Given the description of an element on the screen output the (x, y) to click on. 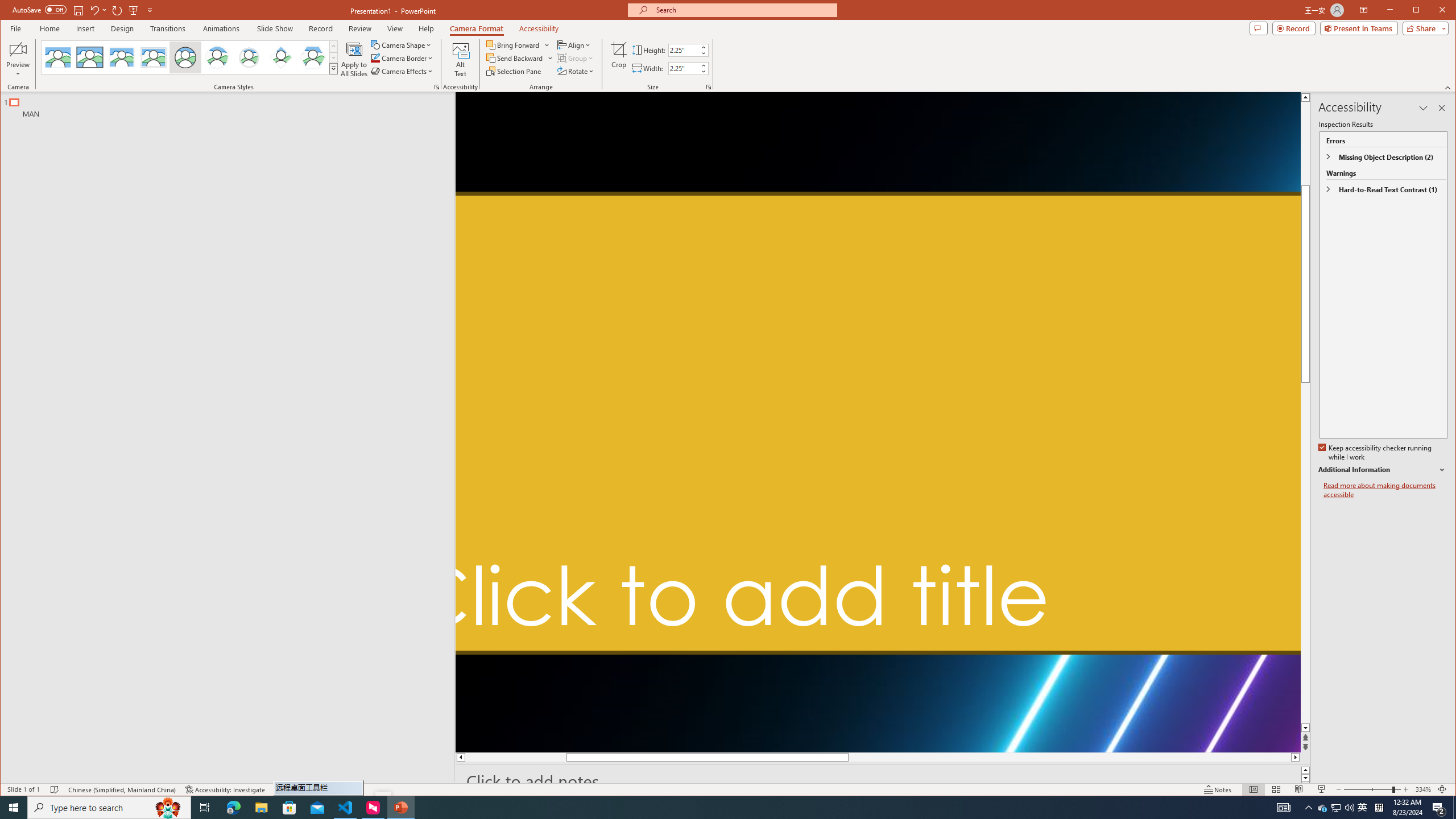
Center Shadow Rectangle (122, 57)
Send Backward (515, 57)
Soft Edge Rectangle (153, 57)
Rotate (577, 70)
Zoom 334% (1422, 789)
